Given the description of an element on the screen output the (x, y) to click on. 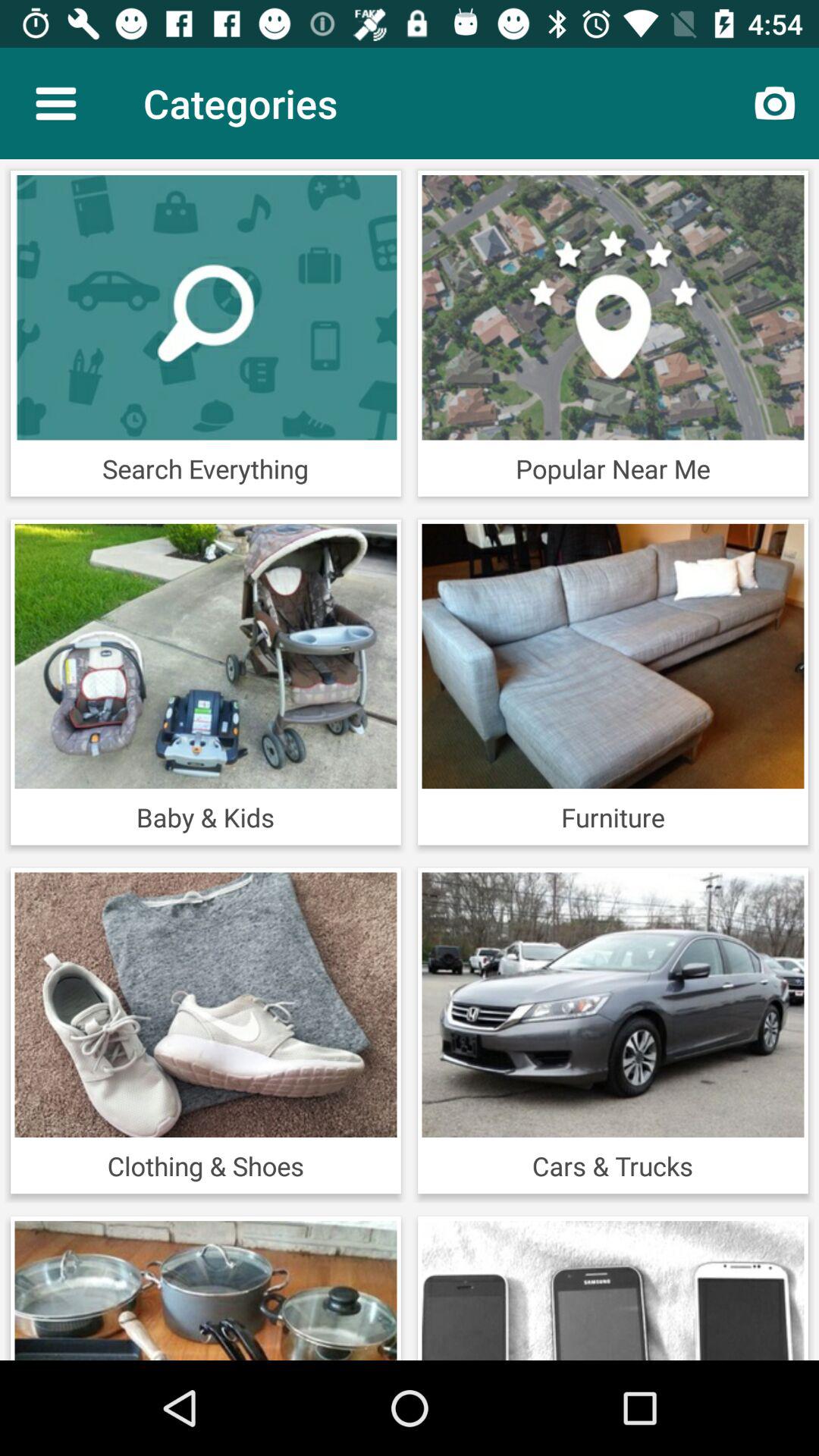
press the item to the right of the categories item (775, 103)
